Given the description of an element on the screen output the (x, y) to click on. 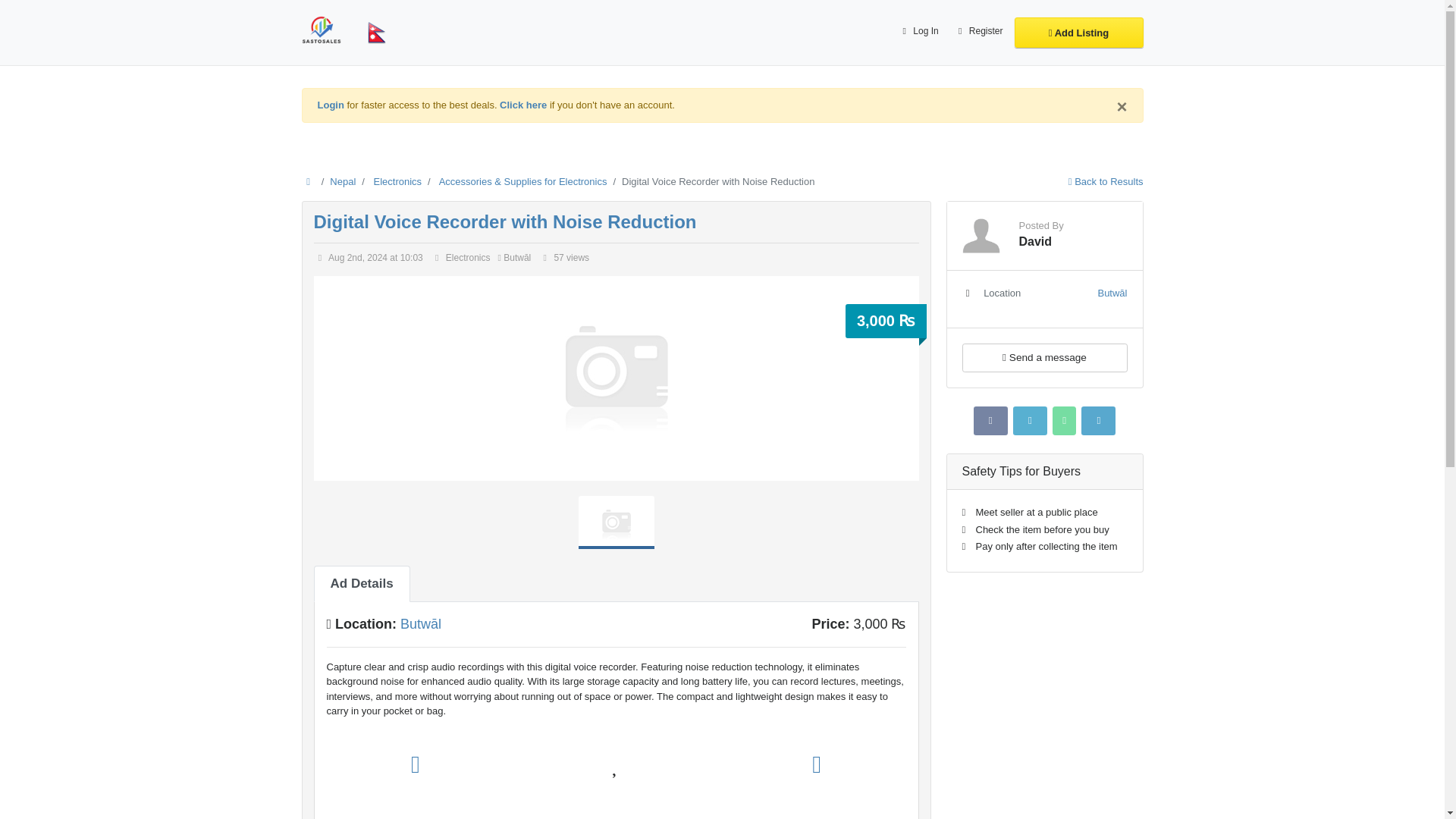
Send a message (1043, 357)
Login (330, 104)
Register (978, 32)
Nepal (342, 181)
Digital Voice Recorder with Noise Reduction (505, 221)
Ad Details (362, 583)
Electronics (398, 181)
Click here (523, 104)
Back to Results (1105, 181)
Log In (916, 32)
Add Listing (1078, 32)
Digital Voice Recorder with Noise Reduction (505, 221)
